Given the description of an element on the screen output the (x, y) to click on. 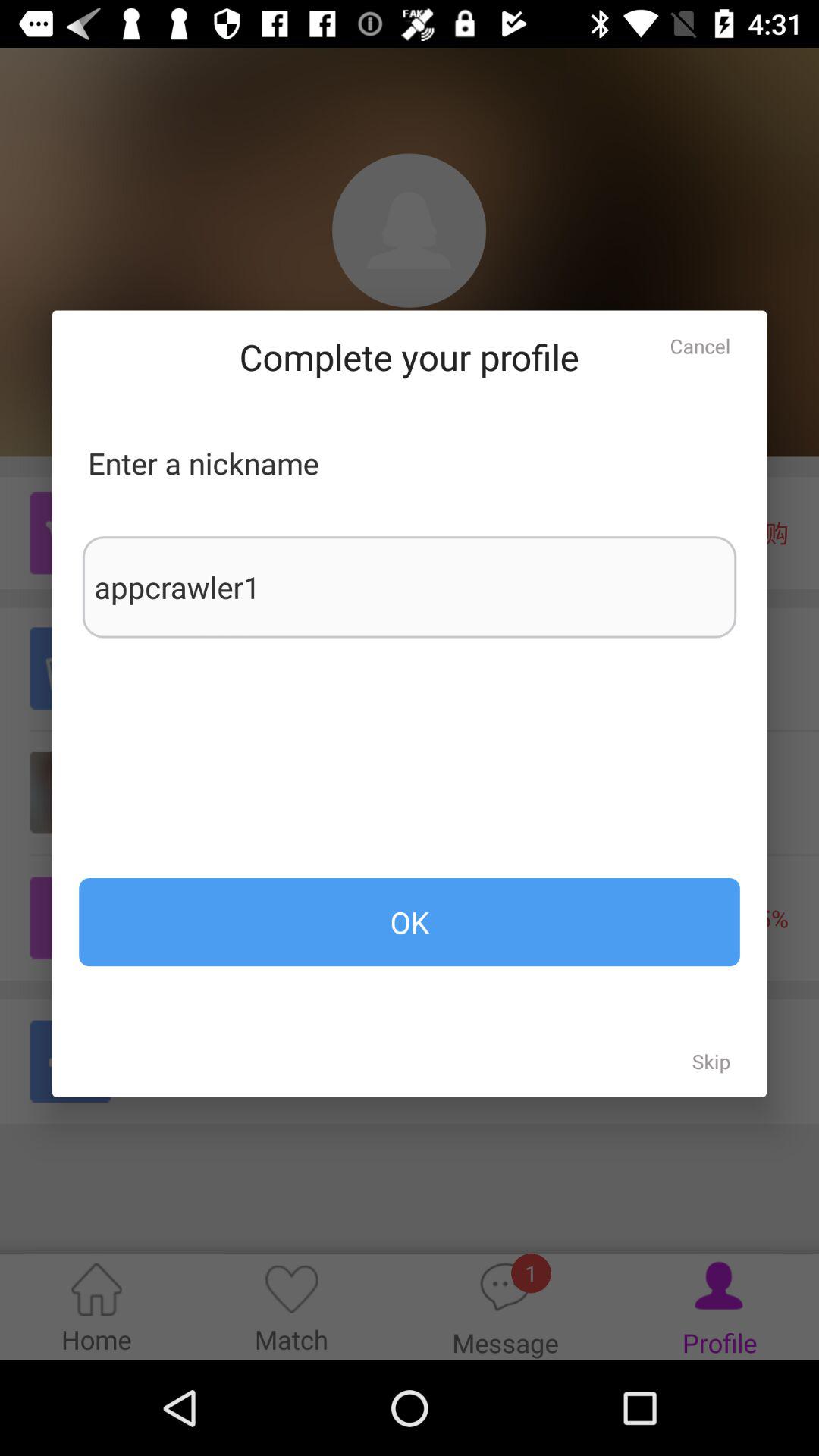
turn on item above the appcrawler1 (700, 345)
